Given the description of an element on the screen output the (x, y) to click on. 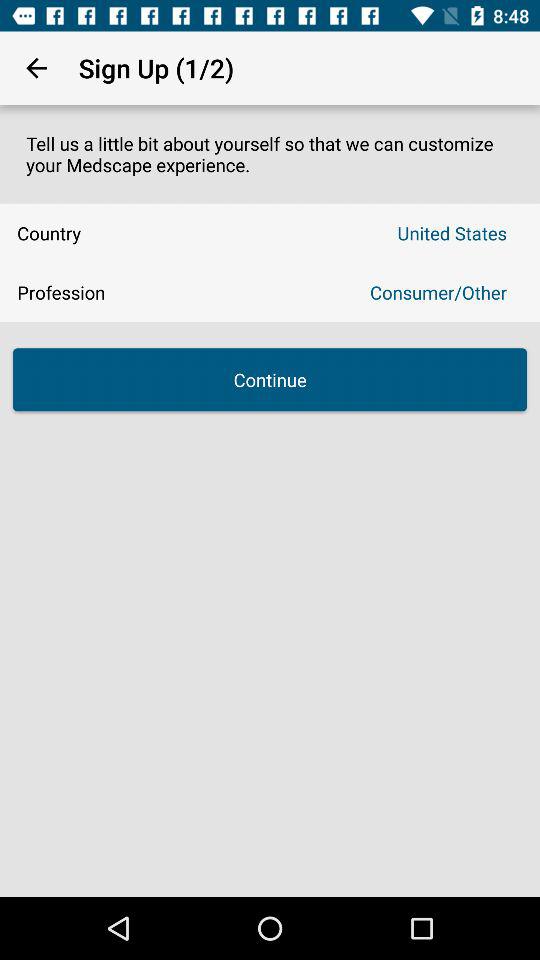
scroll until continue item (269, 379)
